Given the description of an element on the screen output the (x, y) to click on. 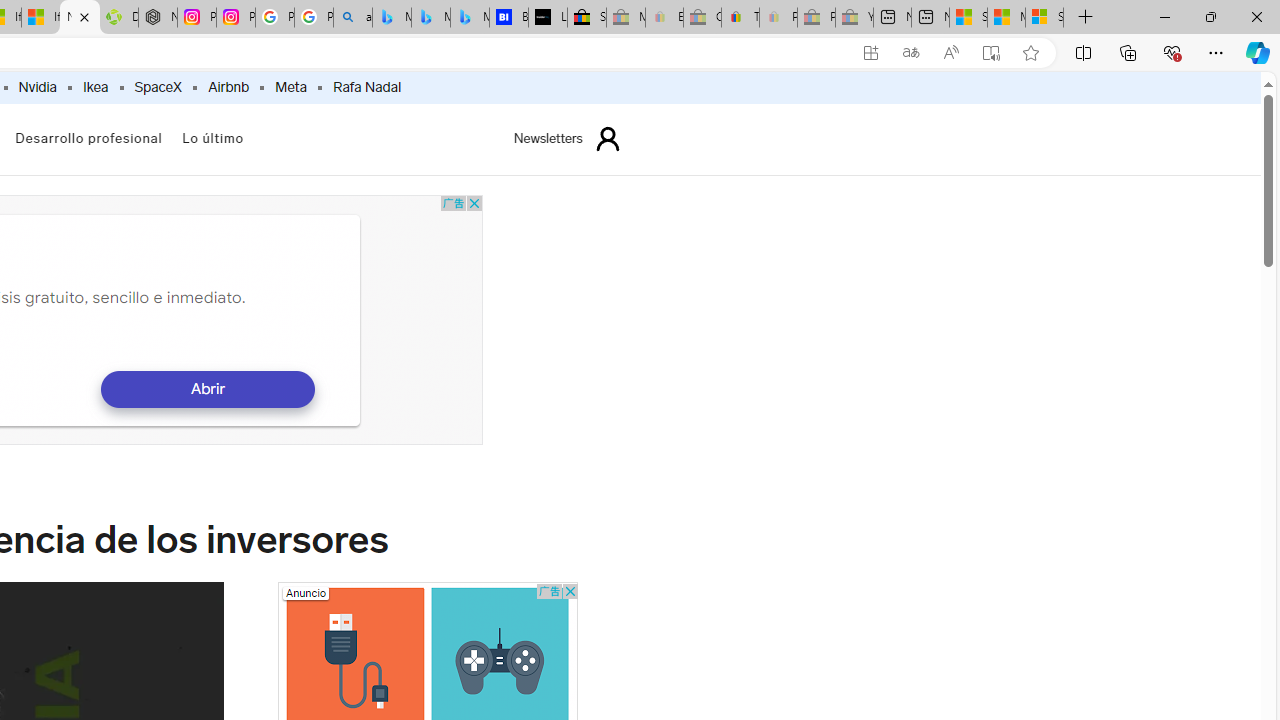
SpaceX (157, 88)
Ikea (94, 88)
Selling on eBay | Electronics, Fashion, Home & Garden | eBay (586, 17)
Desarrollo profesional (88, 138)
Press Room - eBay Inc. - Sleeping (815, 17)
Payments Terms of Use | eBay.com - Sleeping (778, 17)
